Given the description of an element on the screen output the (x, y) to click on. 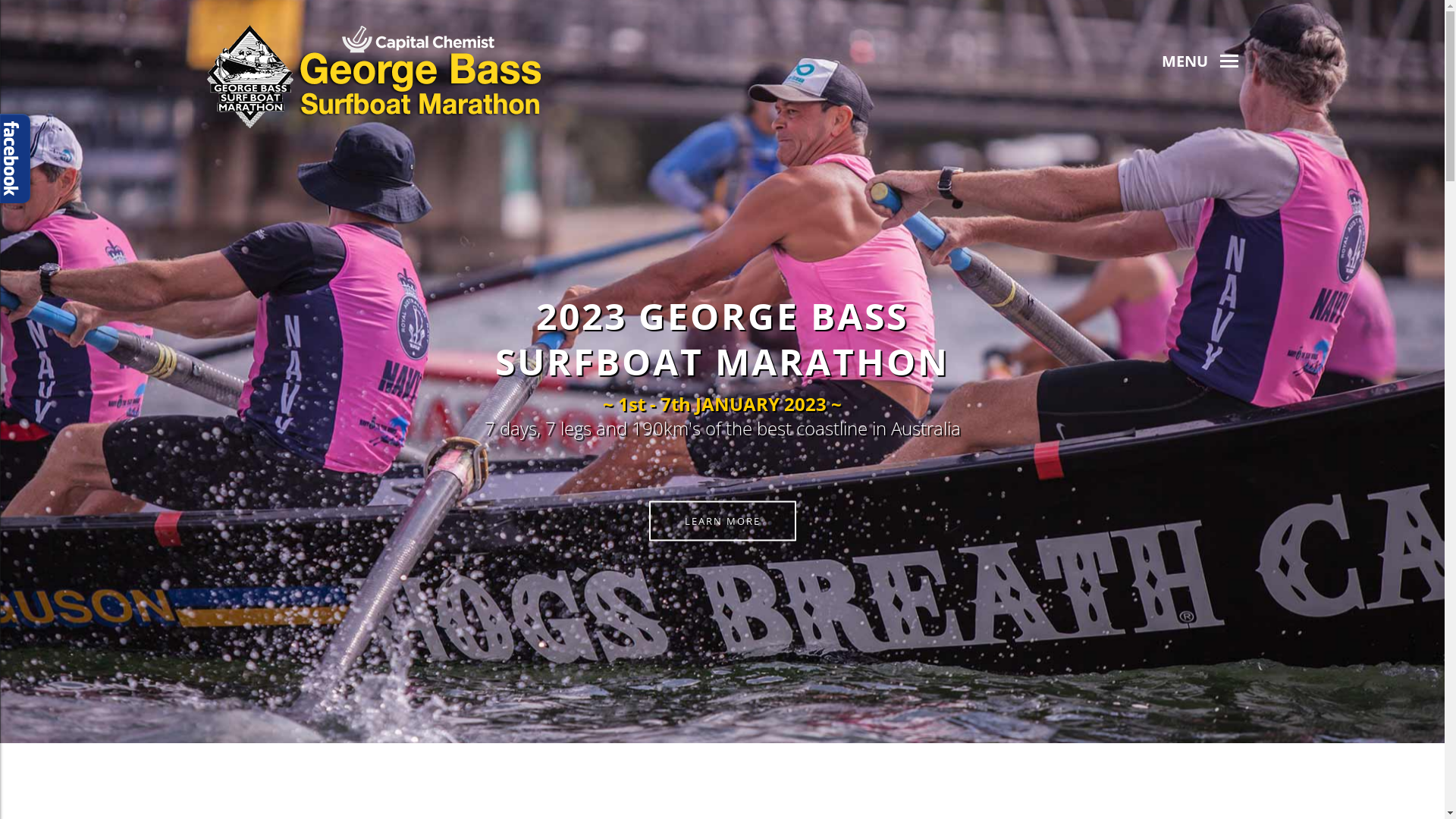
LEARN MORE Element type: text (722, 520)
